Given the description of an element on the screen output the (x, y) to click on. 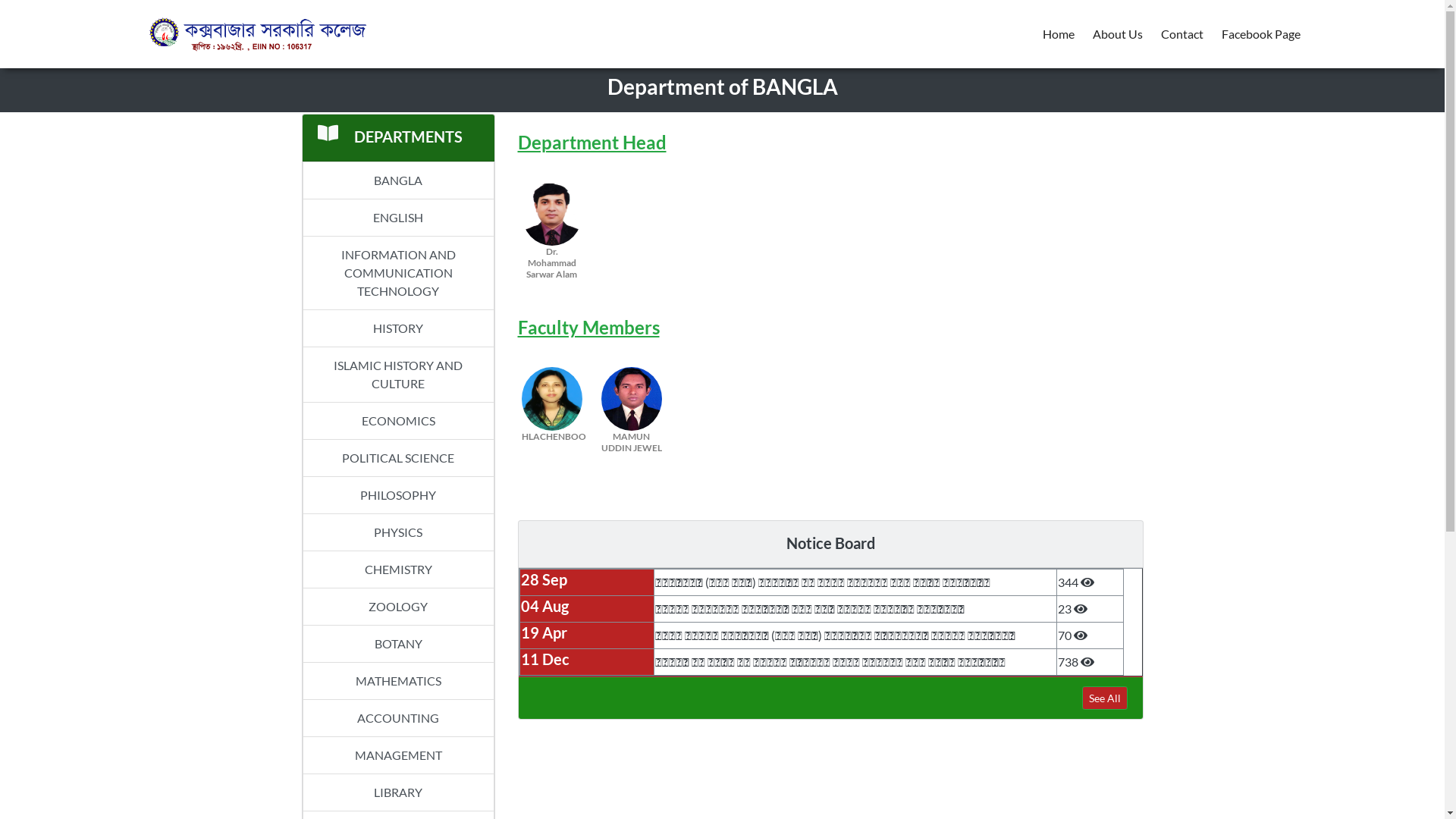
HLACHENBOO Element type: text (551, 414)
Dr. Mohammad Sarwar Alam Element type: text (551, 229)
POLITICAL SCIENCE Element type: text (397, 457)
ISLAMIC HISTORY AND CULTURE Element type: text (397, 374)
HISTORY Element type: text (397, 328)
BOTANY Element type: text (397, 643)
See All Element type: text (1103, 697)
PHYSICS Element type: text (397, 532)
Contact Element type: text (1181, 34)
CHEMISTRY Element type: text (397, 569)
About Us Element type: text (1117, 34)
Home Element type: text (1057, 34)
ZOOLOGY Element type: text (397, 606)
MANAGEMENT Element type: text (397, 755)
MATHEMATICS Element type: text (397, 680)
LIBRARY Element type: text (397, 792)
PHILOSOPHY Element type: text (397, 495)
Facebook Page Element type: text (1259, 34)
ACCOUNTING Element type: text (397, 718)
ECONOMICS Element type: text (397, 420)
MAMUN UDDIN JEWEL Element type: text (631, 414)
ENGLISH Element type: text (397, 217)
BANGLA Element type: text (397, 180)
INFORMATION AND COMMUNICATION TECHNOLOGY Element type: text (397, 273)
